Given the description of an element on the screen output the (x, y) to click on. 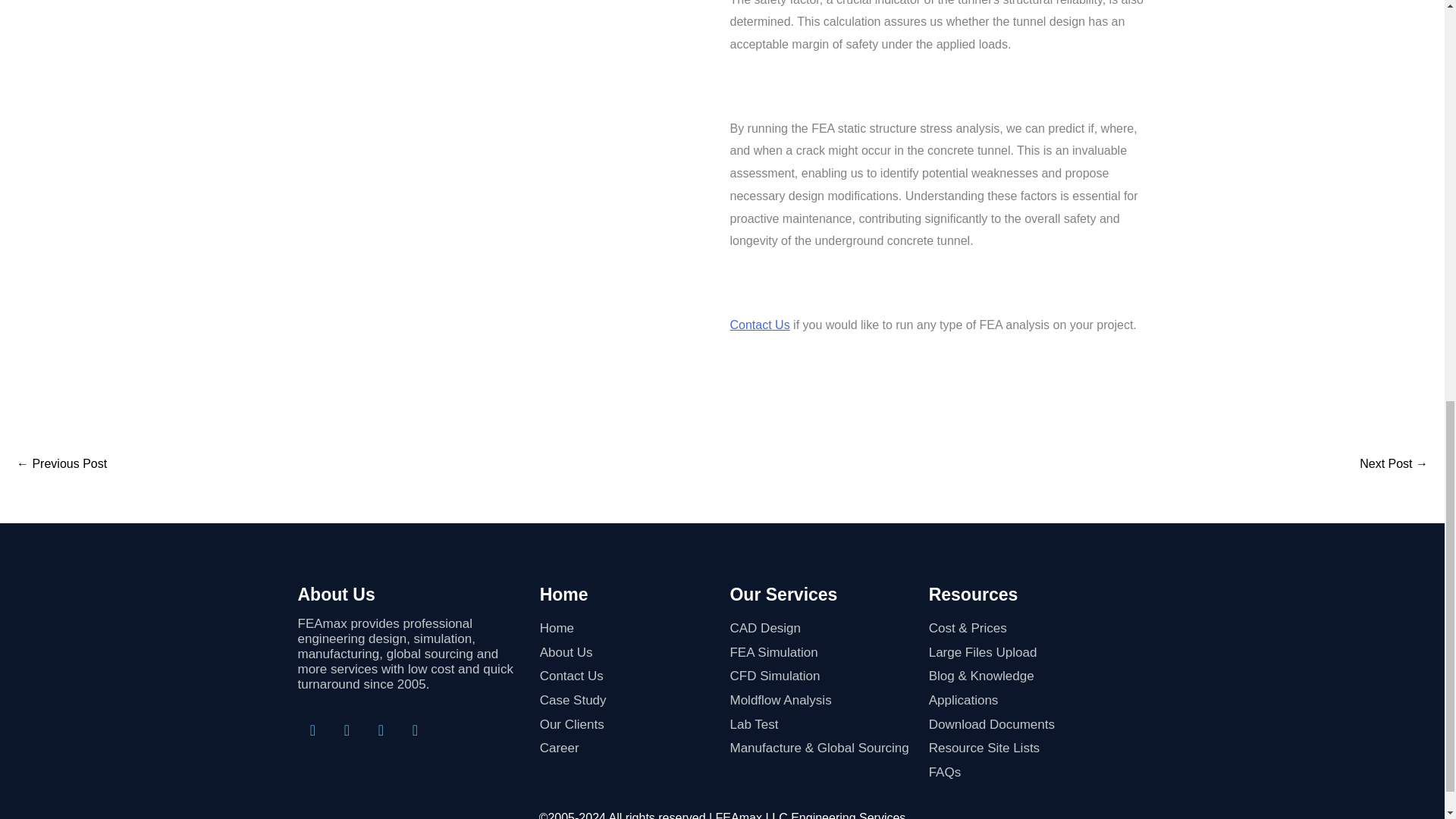
Crack Propagation Analysis on Engine (61, 463)
FEA Structure Stress Analysis on Bladder Mold (1393, 463)
